Given the description of an element on the screen output the (x, y) to click on. 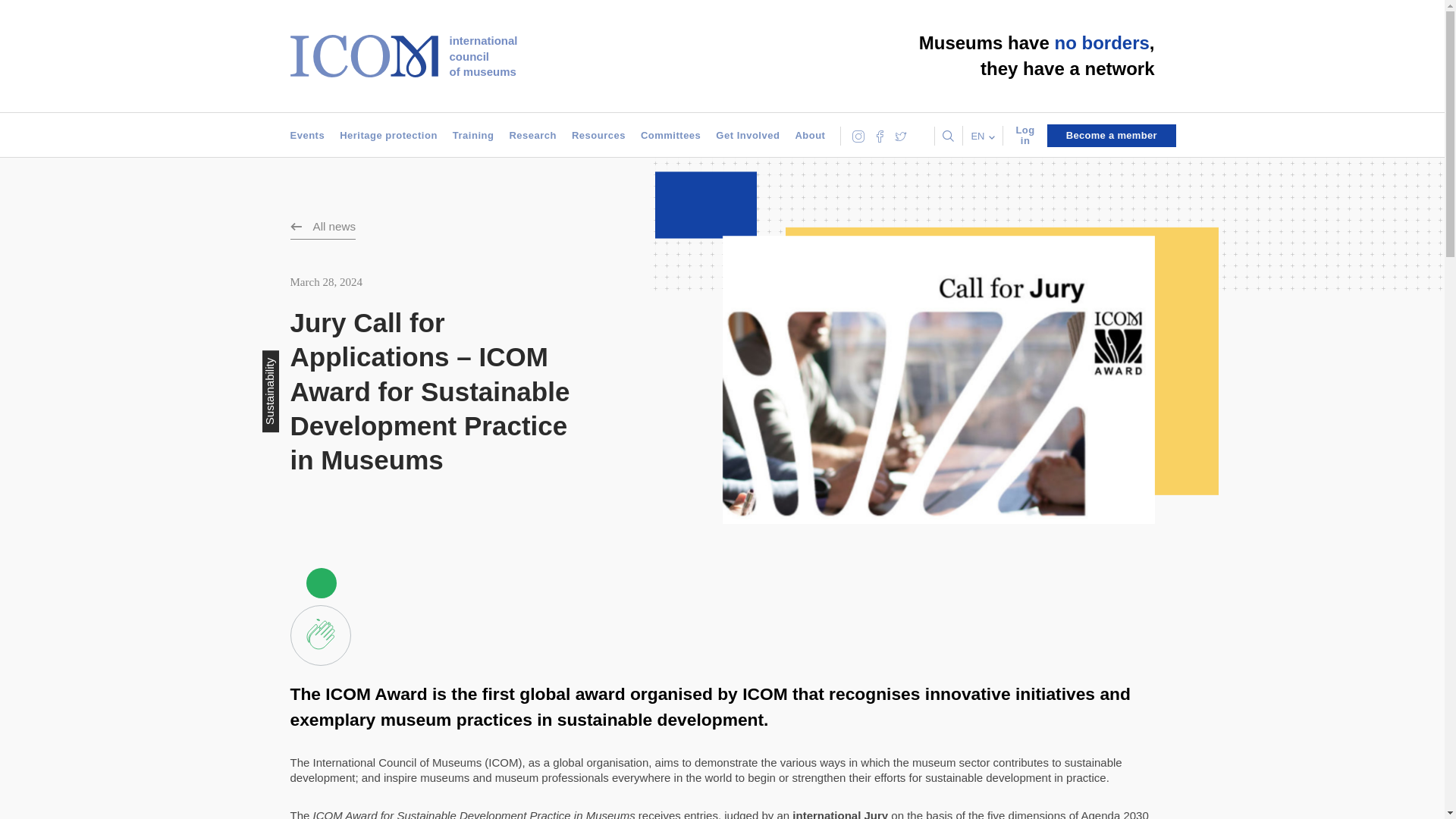
Research (532, 135)
Committees (402, 55)
Resources (670, 135)
Heritage protection (599, 135)
Training (388, 135)
